Given the description of an element on the screen output the (x, y) to click on. 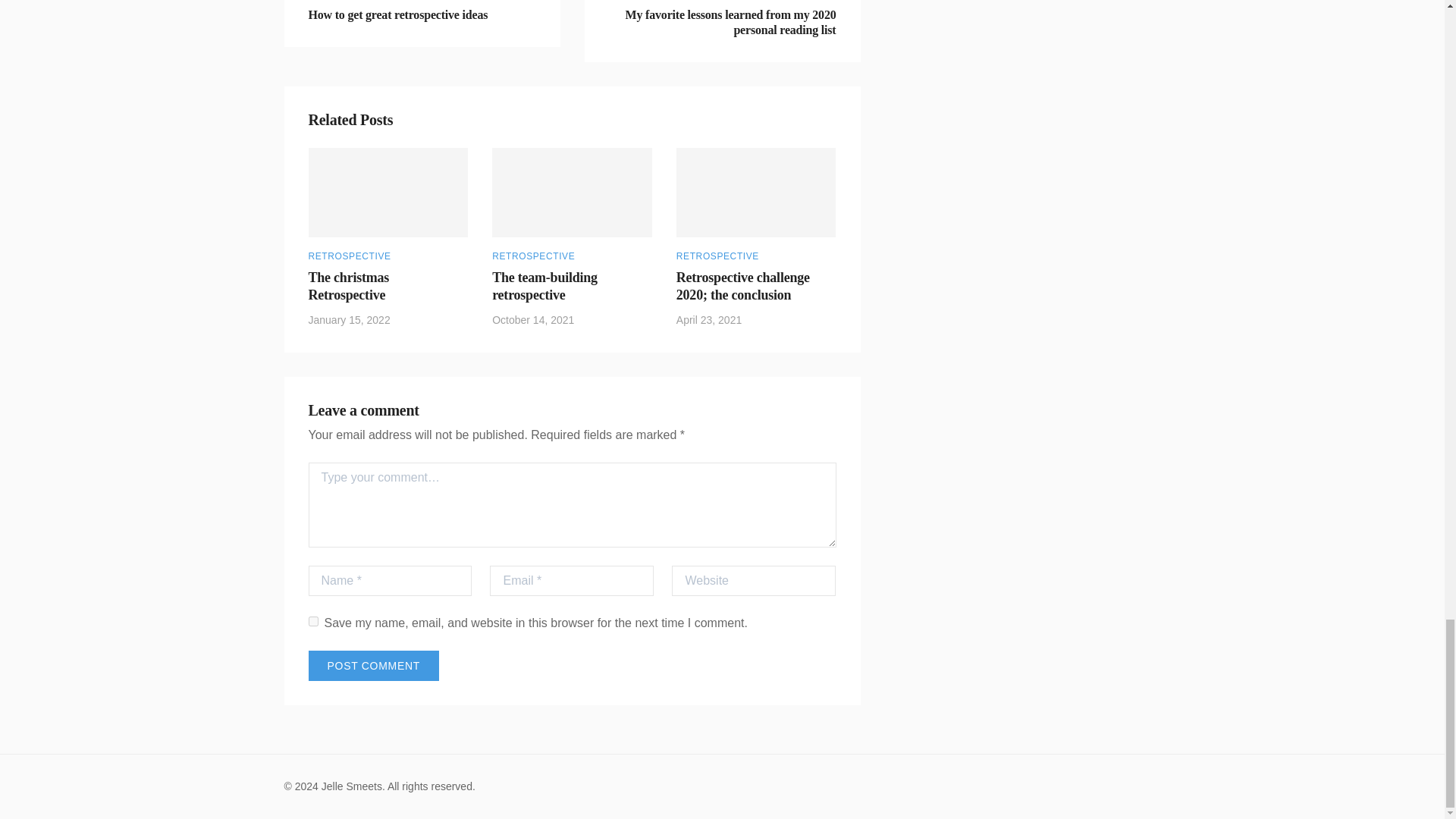
yes (421, 23)
Post Comment (312, 621)
The team-building retrospective (372, 665)
RETROSPECTIVE (544, 286)
RETROSPECTIVE (717, 255)
RETROSPECTIVE (533, 255)
The christmas Retrospective (348, 255)
